Given the description of an element on the screen output the (x, y) to click on. 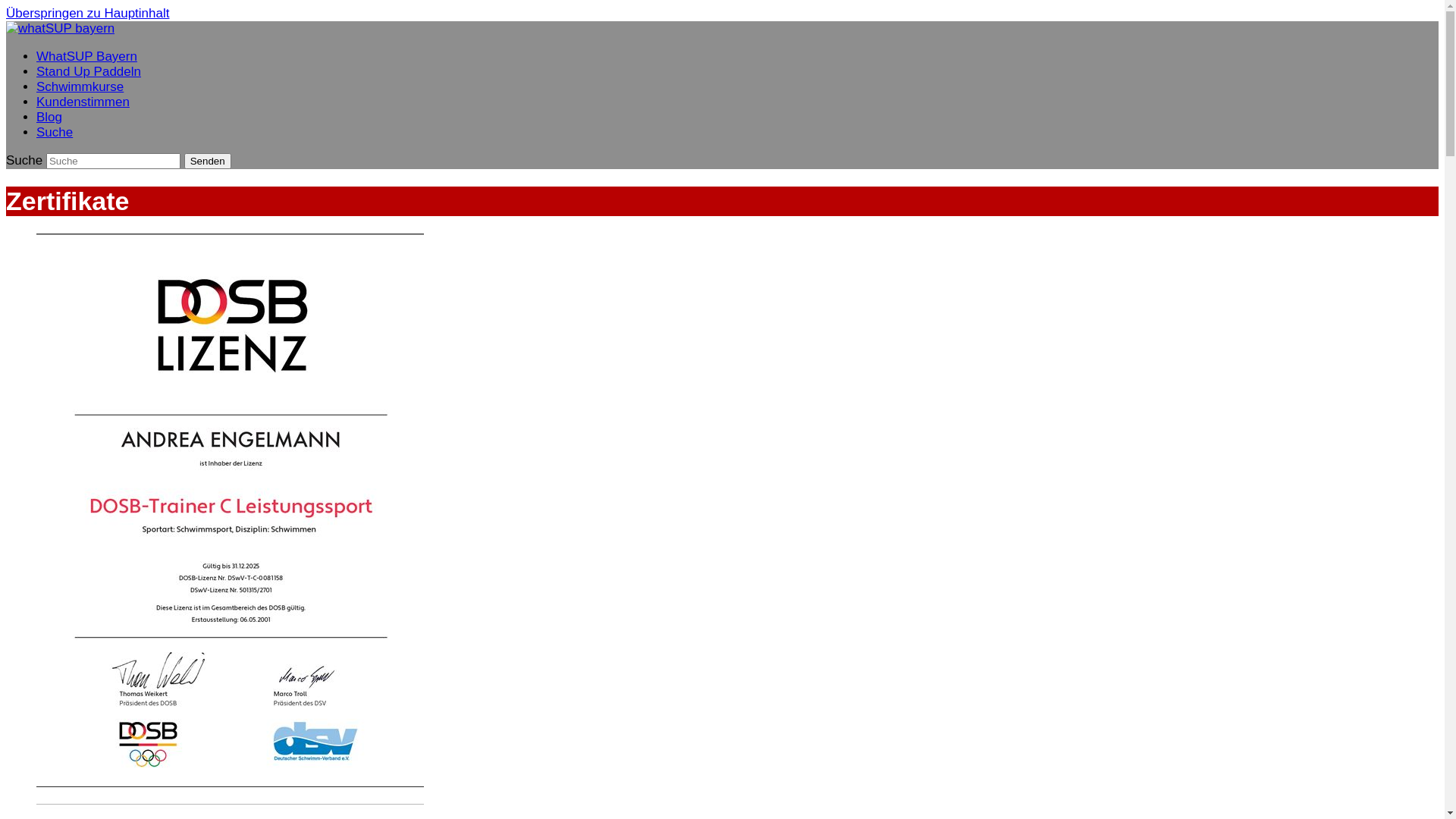
Suche Element type: text (54, 132)
WhatSUP Bayern Element type: text (86, 56)
Senden Element type: text (207, 161)
Blog Element type: text (49, 116)
Kundenstimmen Element type: text (82, 101)
Schwimmkurse Element type: text (79, 86)
Stand Up Paddeln Element type: text (88, 71)
